Given the description of an element on the screen output the (x, y) to click on. 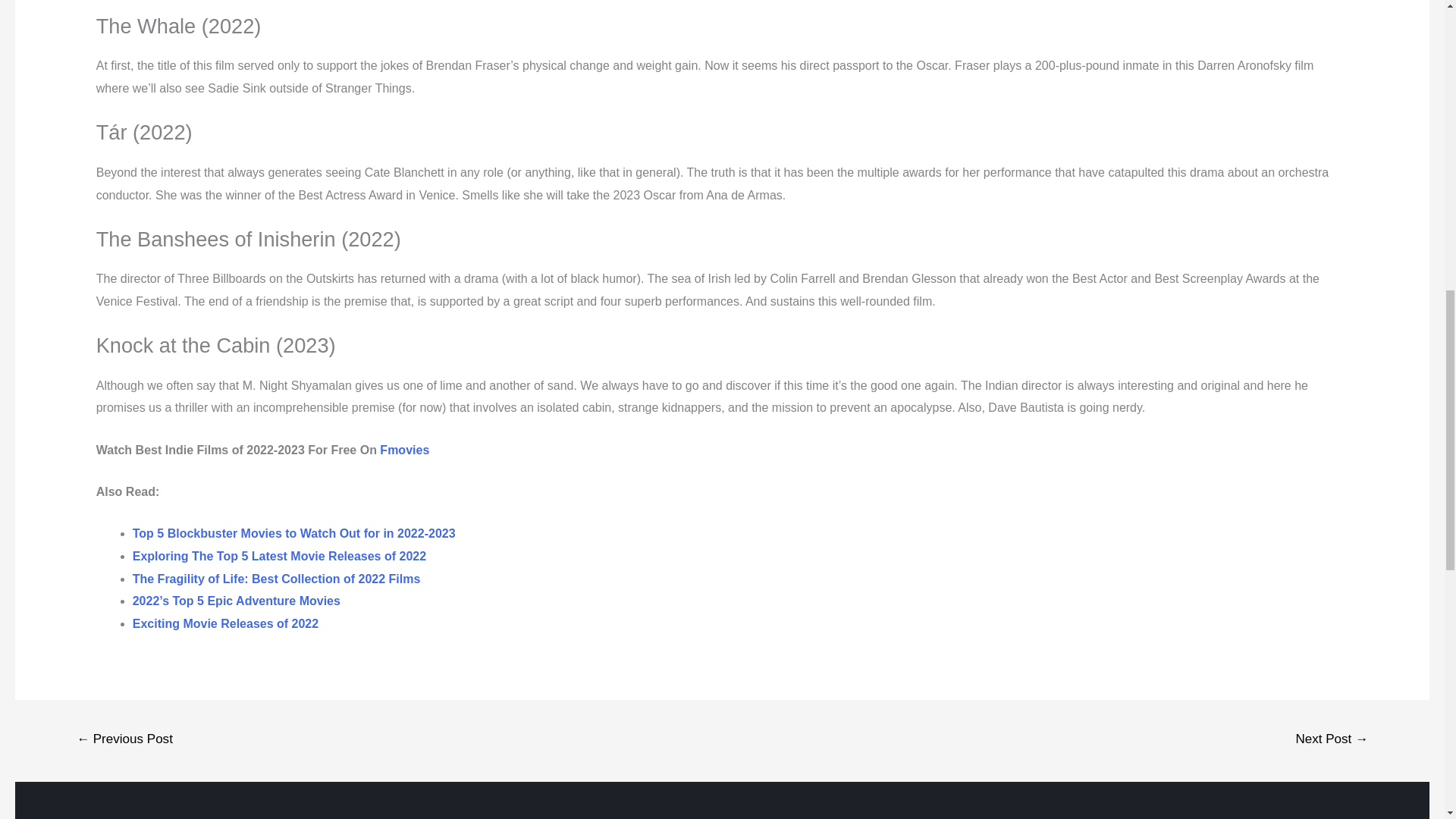
Exciting Movie Releases of 2022 (225, 623)
Fmovies (404, 449)
Top 5 Blockbuster Movies to Watch Out for in 2022-2023 (293, 533)
The Fragility of Life: Best Collection of 2022 Films  (277, 578)
Exploring The Top 5 Latest Movie Releases of 2022 (279, 555)
